Given the description of an element on the screen output the (x, y) to click on. 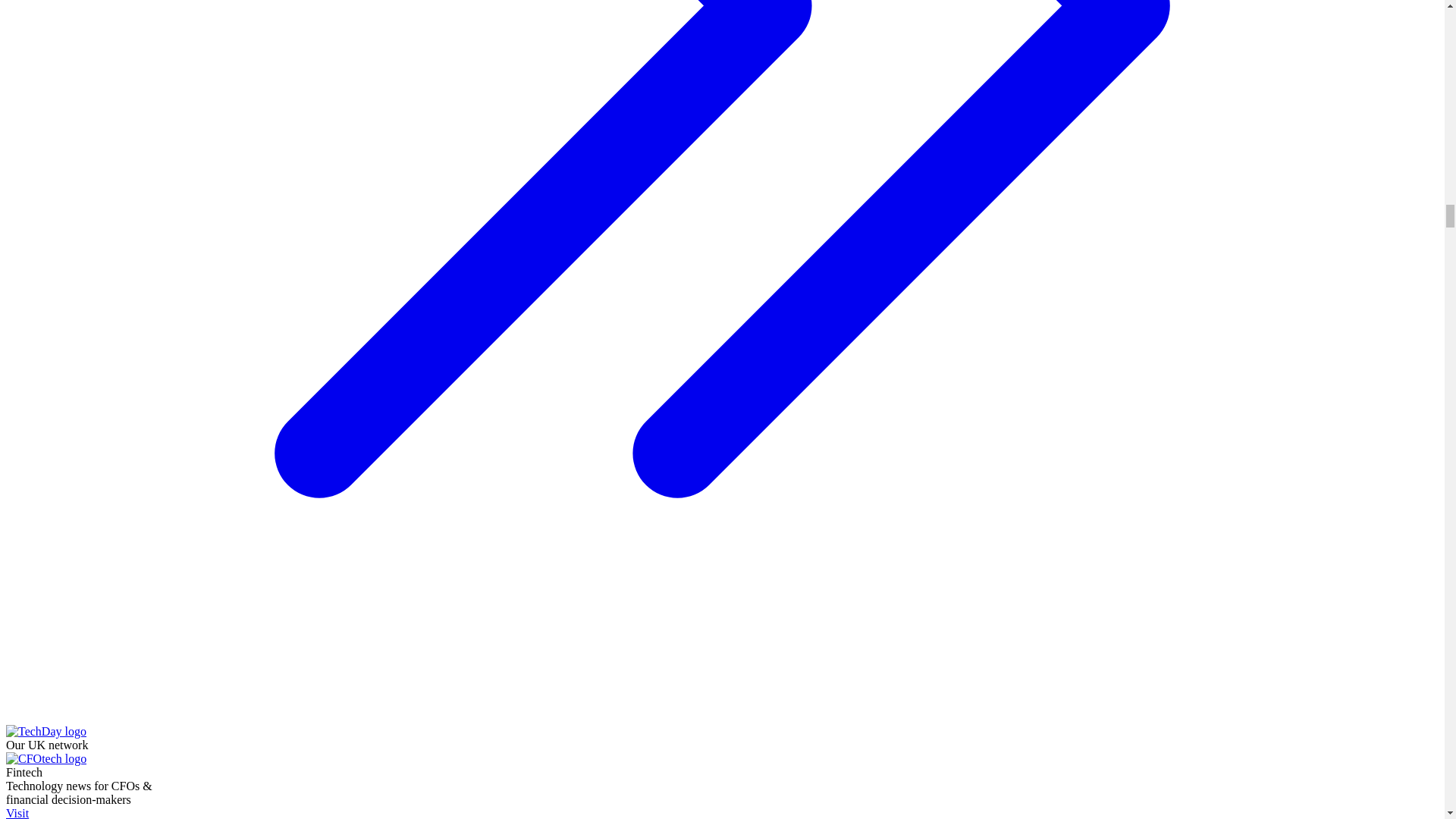
Visit (85, 812)
